Given the description of an element on the screen output the (x, y) to click on. 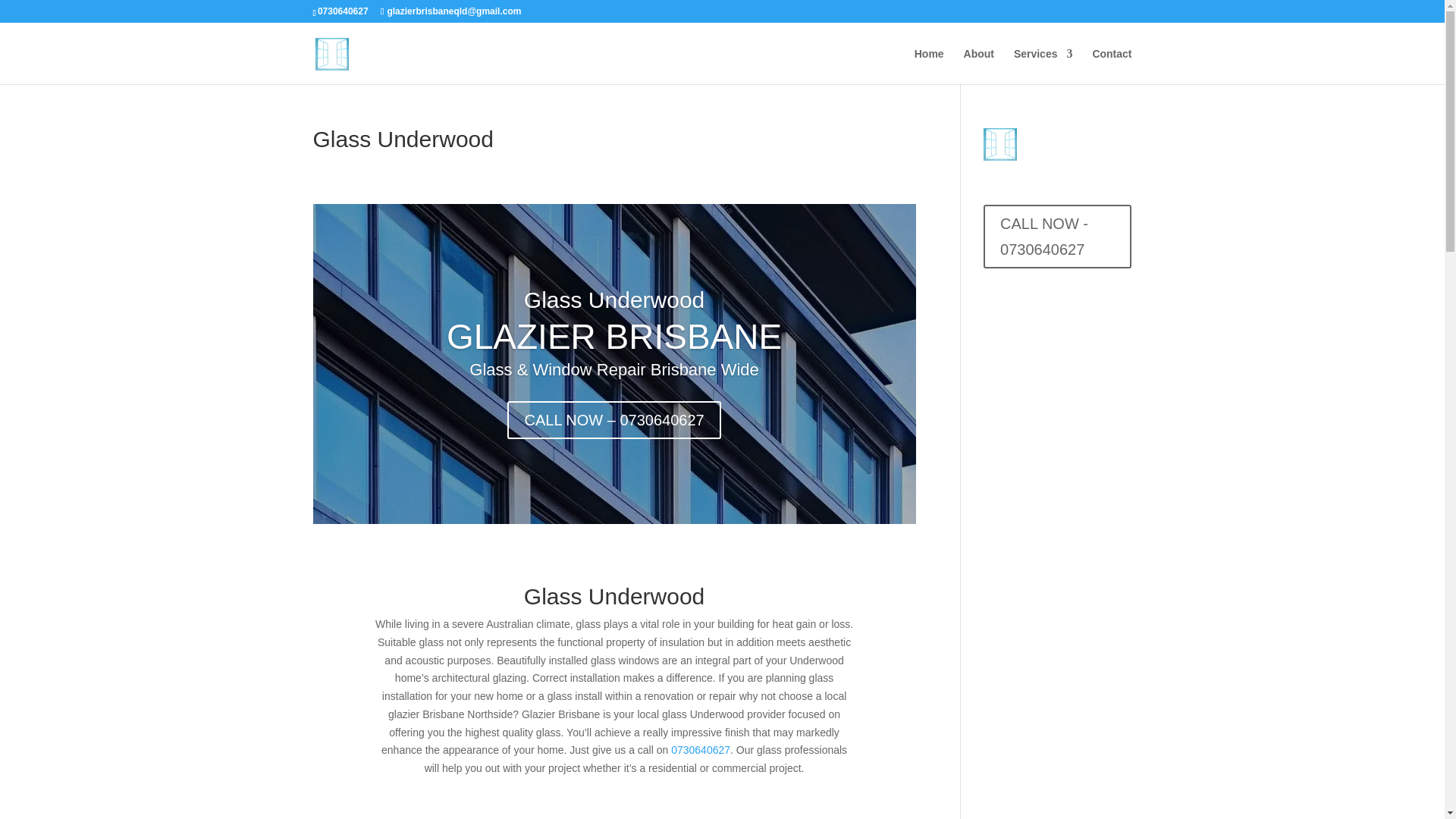
Services (1043, 66)
0730640627 (700, 749)
CALL NOW - 0730640627 (1057, 236)
0730640627 (345, 10)
GLAZIER BRISBANE (613, 368)
Contact (1111, 66)
